Given the description of an element on the screen output the (x, y) to click on. 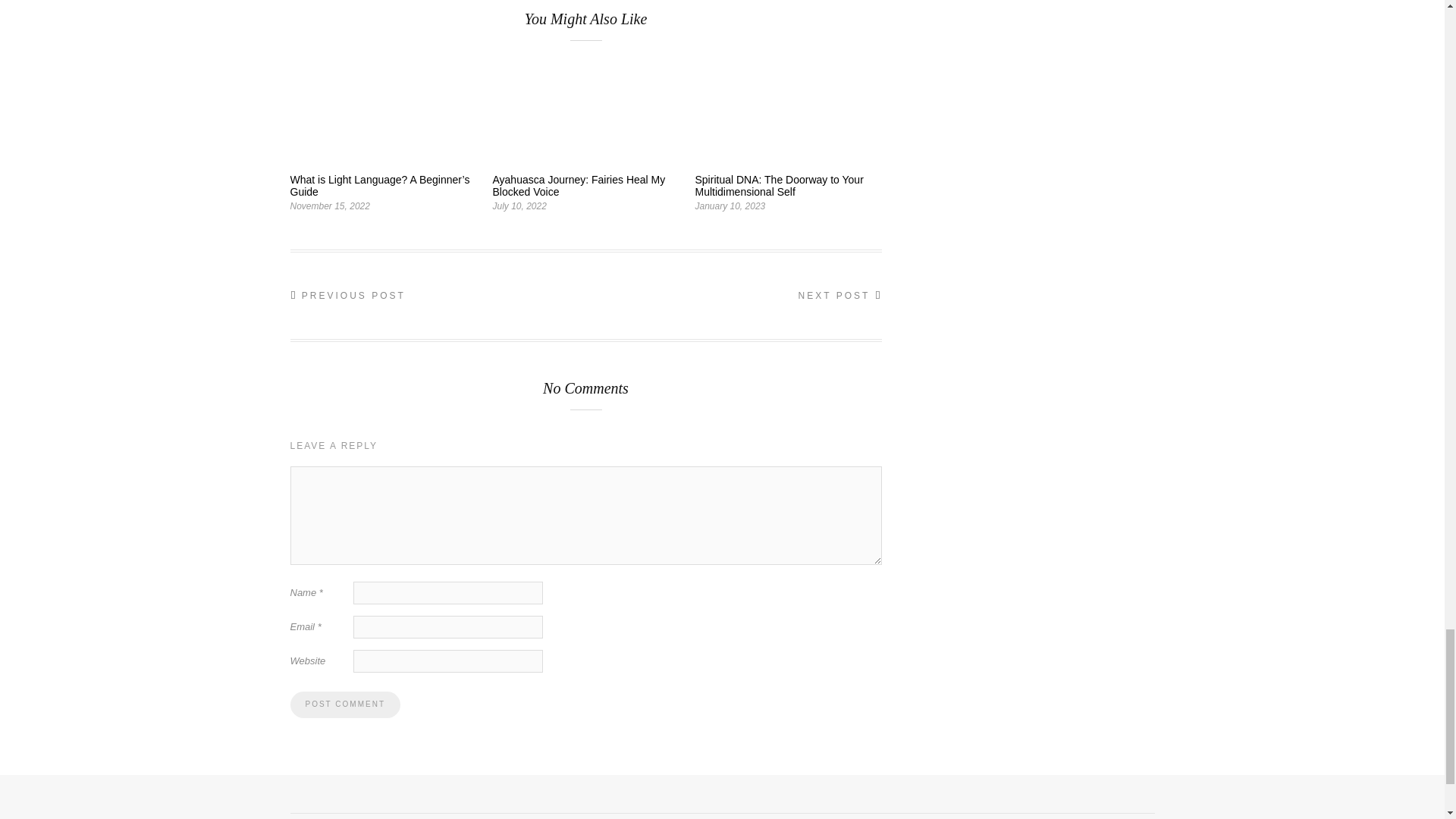
Post Comment (343, 704)
